Given the description of an element on the screen output the (x, y) to click on. 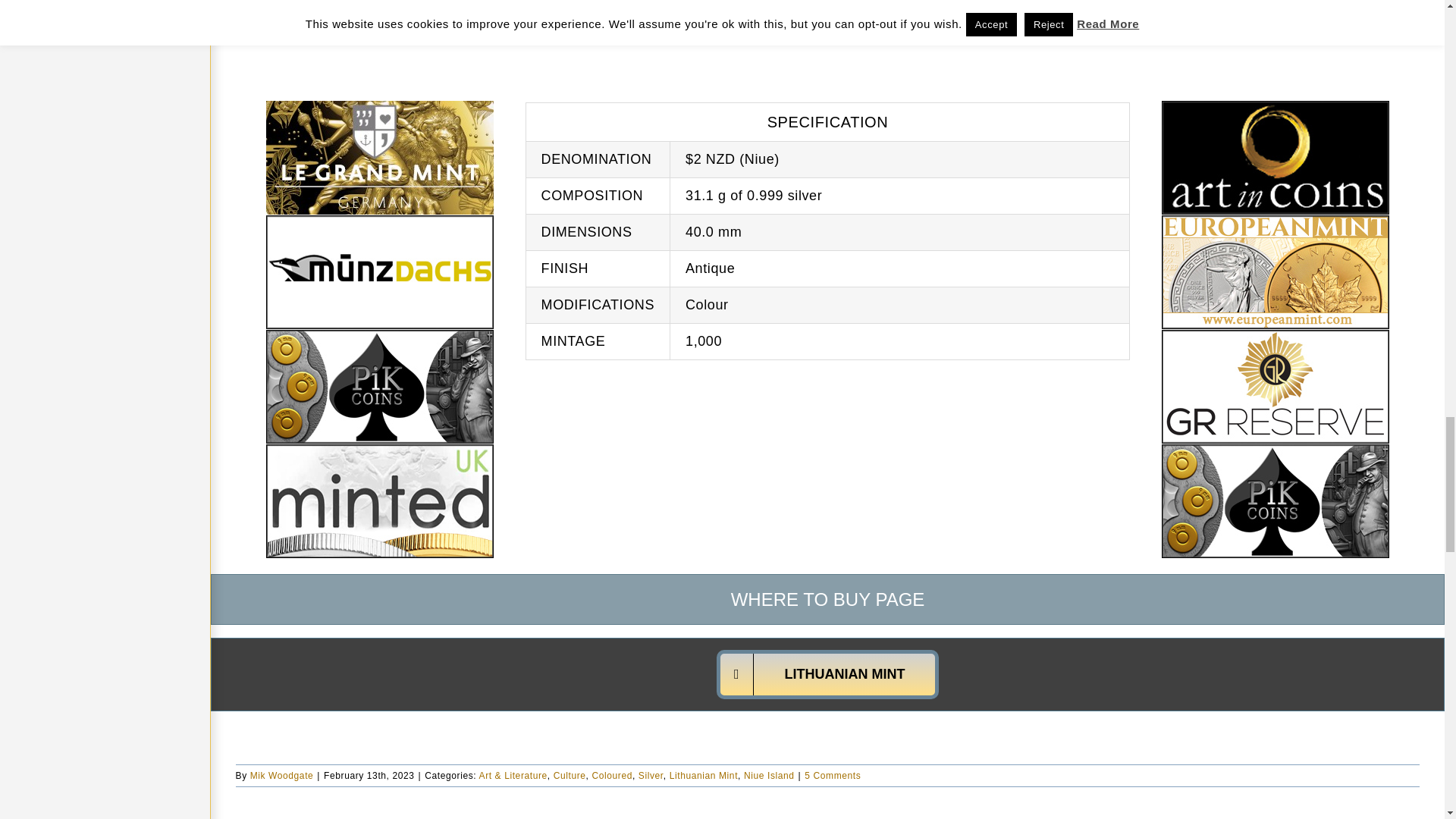
Posts by Mik Woodgate (282, 775)
